Given the description of an element on the screen output the (x, y) to click on. 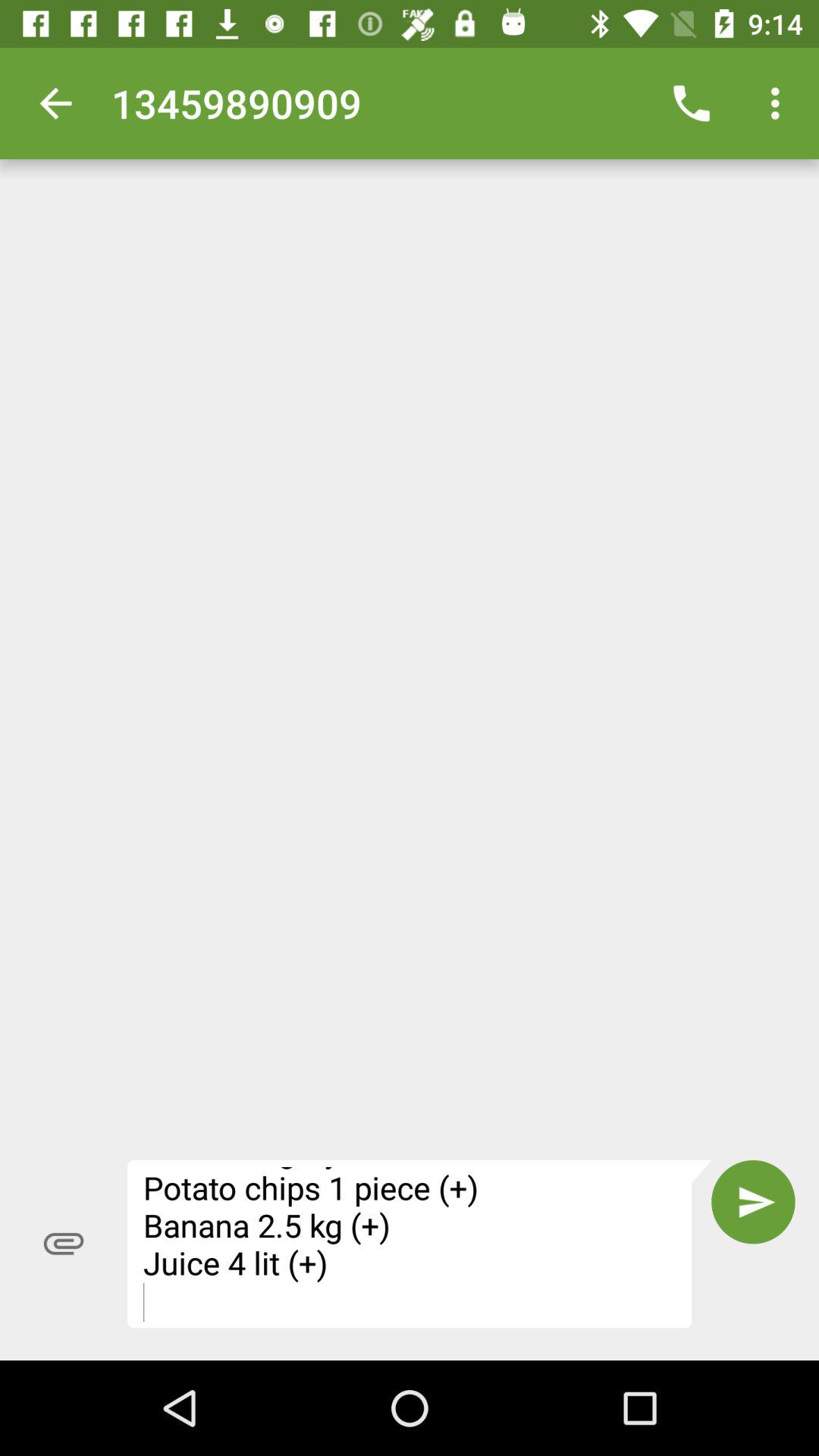
choose icon at the bottom left corner (63, 1243)
